Given the description of an element on the screen output the (x, y) to click on. 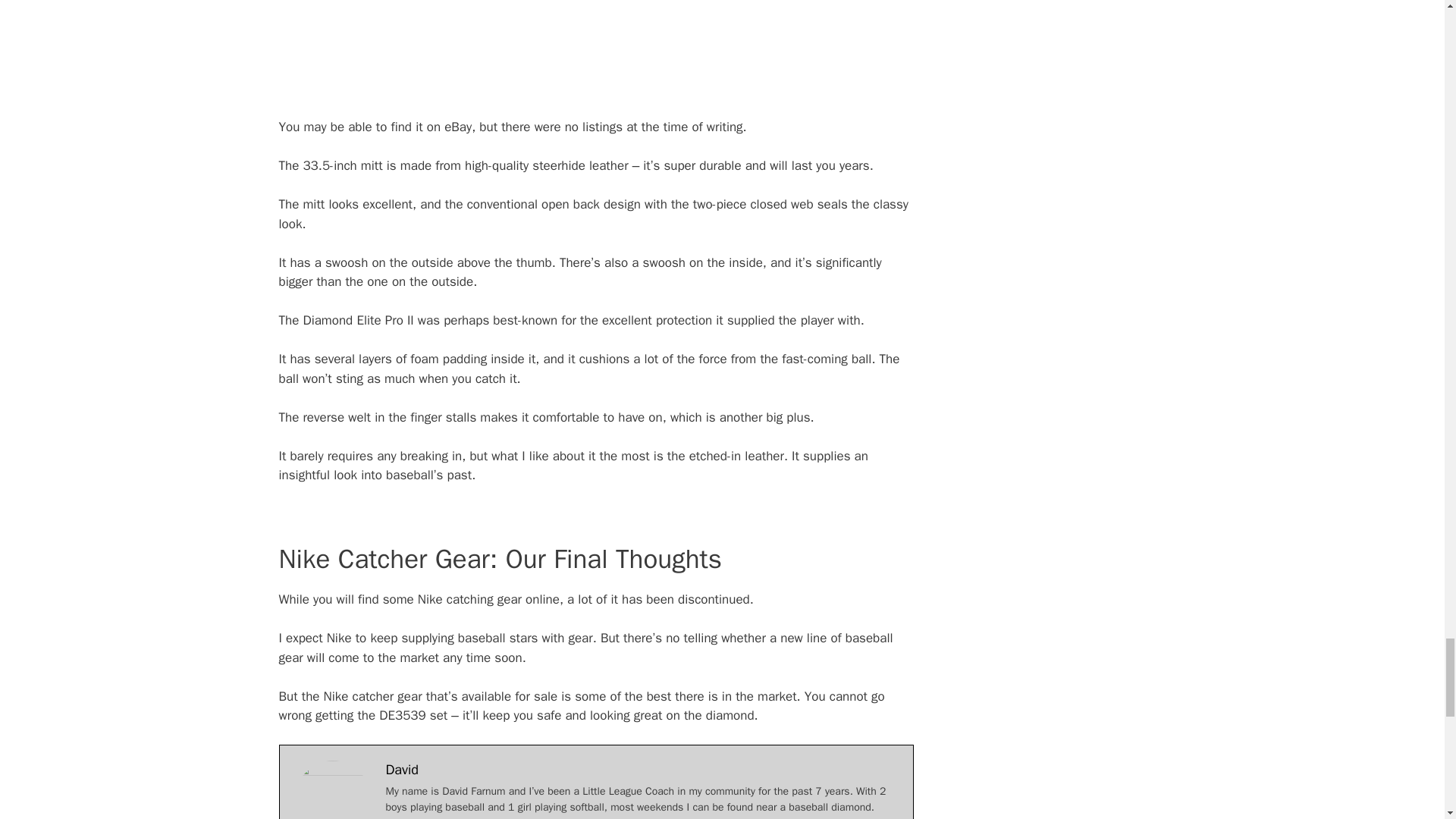
David (402, 769)
